Given the description of an element on the screen output the (x, y) to click on. 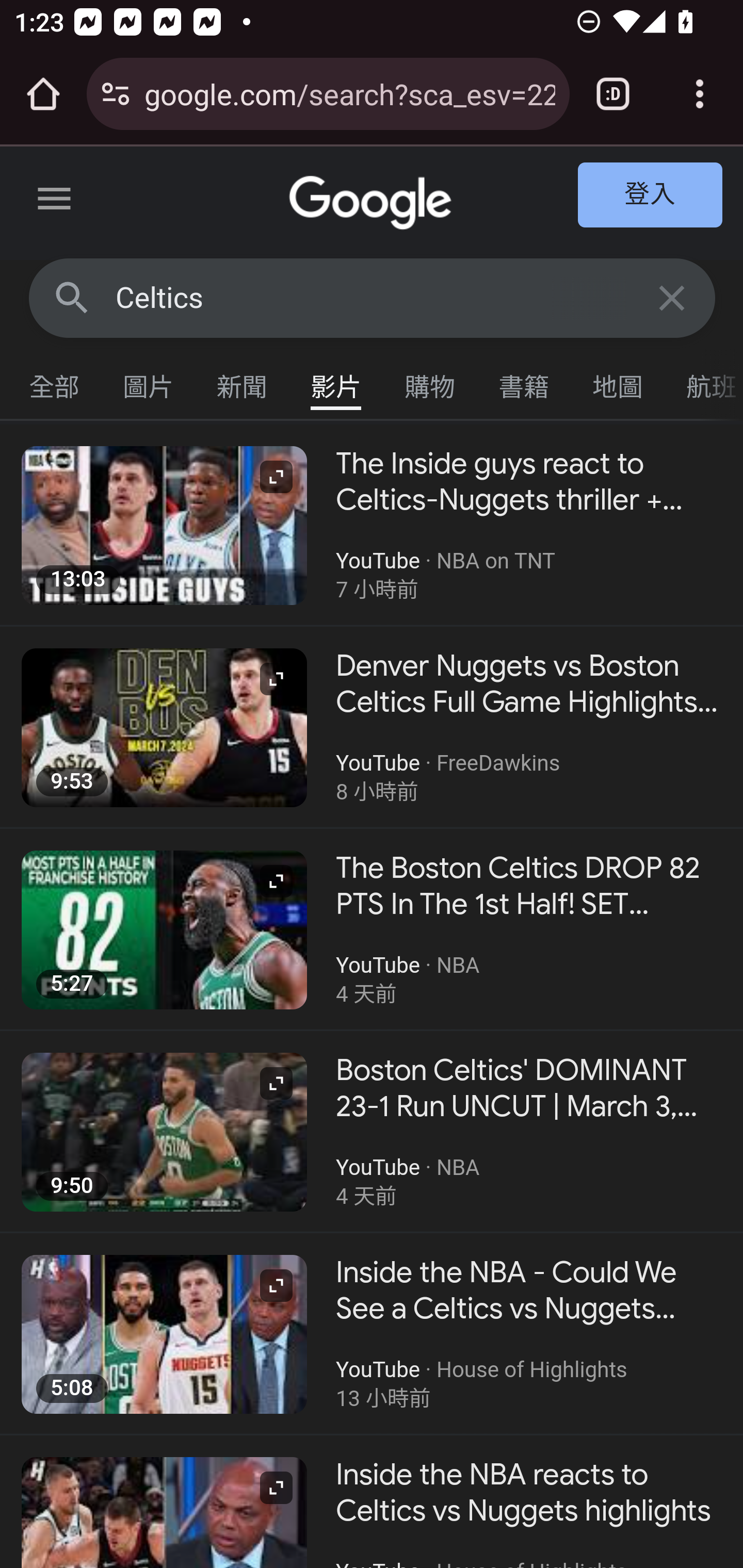
Open the home page (43, 93)
Connection is secure (115, 93)
Switch or close tabs (612, 93)
Customize and control Google Chrome (699, 93)
主選單 (54, 202)
Google (372, 203)
登入 (650, 195)
Google 搜尋 (71, 296)
清除搜尋內容 (672, 296)
Celtics (372, 297)
全部 (54, 382)
圖片 (148, 382)
新聞 (242, 382)
購物 (430, 382)
書籍 (524, 382)
地圖 (618, 382)
航班 (703, 382)
